Given the description of an element on the screen output the (x, y) to click on. 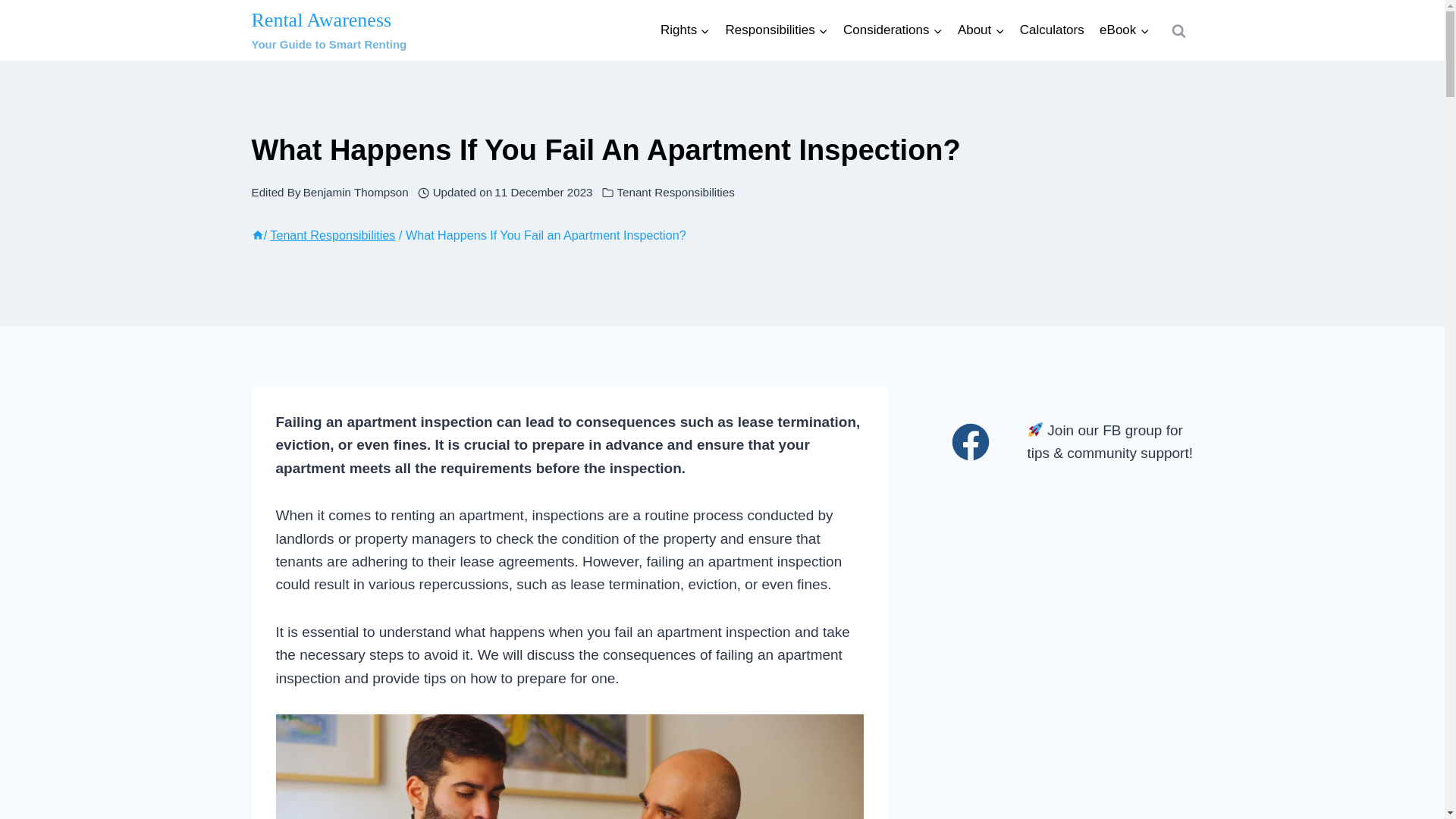
Calculators (1050, 30)
eBook (1124, 30)
Responsibilities (776, 30)
Benjamin Thompson (329, 30)
Rights (355, 192)
Considerations (684, 30)
Tenant Responsibilities (892, 30)
About (331, 234)
Tenant Responsibilities (980, 30)
